Given the description of an element on the screen output the (x, y) to click on. 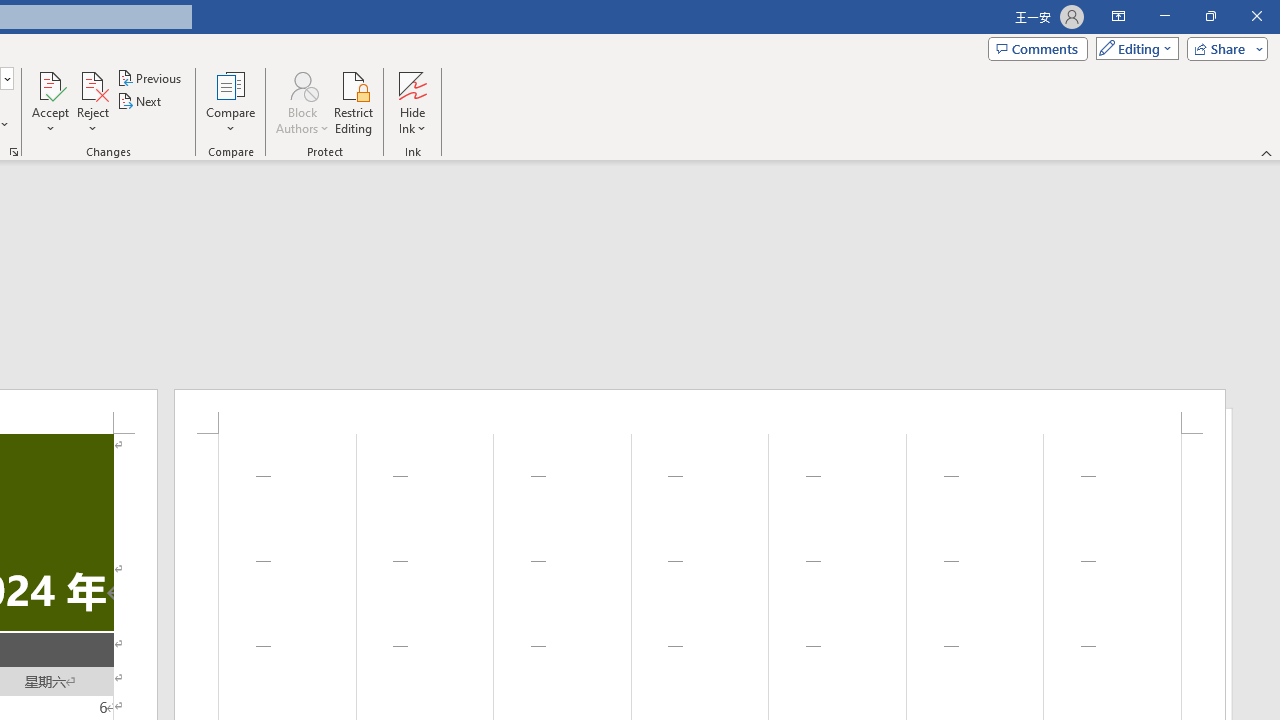
Hide Ink (412, 84)
Change Tracking Options... (13, 151)
Reject and Move to Next (92, 84)
Previous (150, 78)
